Given the description of an element on the screen output the (x, y) to click on. 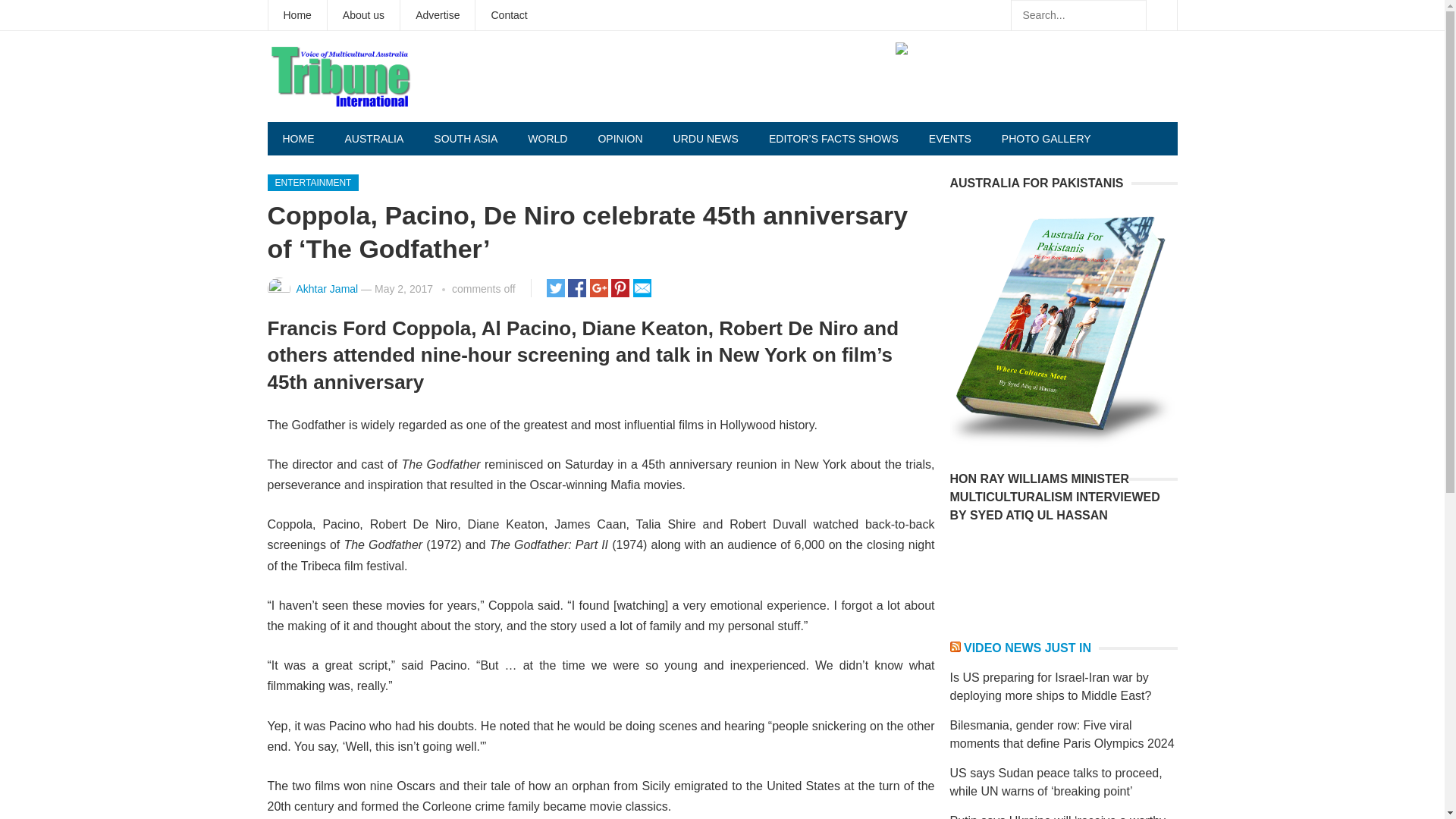
Home (296, 15)
URDU NEWS (706, 138)
EVENTS (950, 138)
ENTERTAINMENT (312, 182)
SOUTH ASIA (465, 138)
About us (362, 15)
Posts by Akhtar Jamal (326, 288)
Akhtar Jamal (326, 288)
Advertise (437, 15)
PHOTO GALLERY (1046, 138)
